Given the description of an element on the screen output the (x, y) to click on. 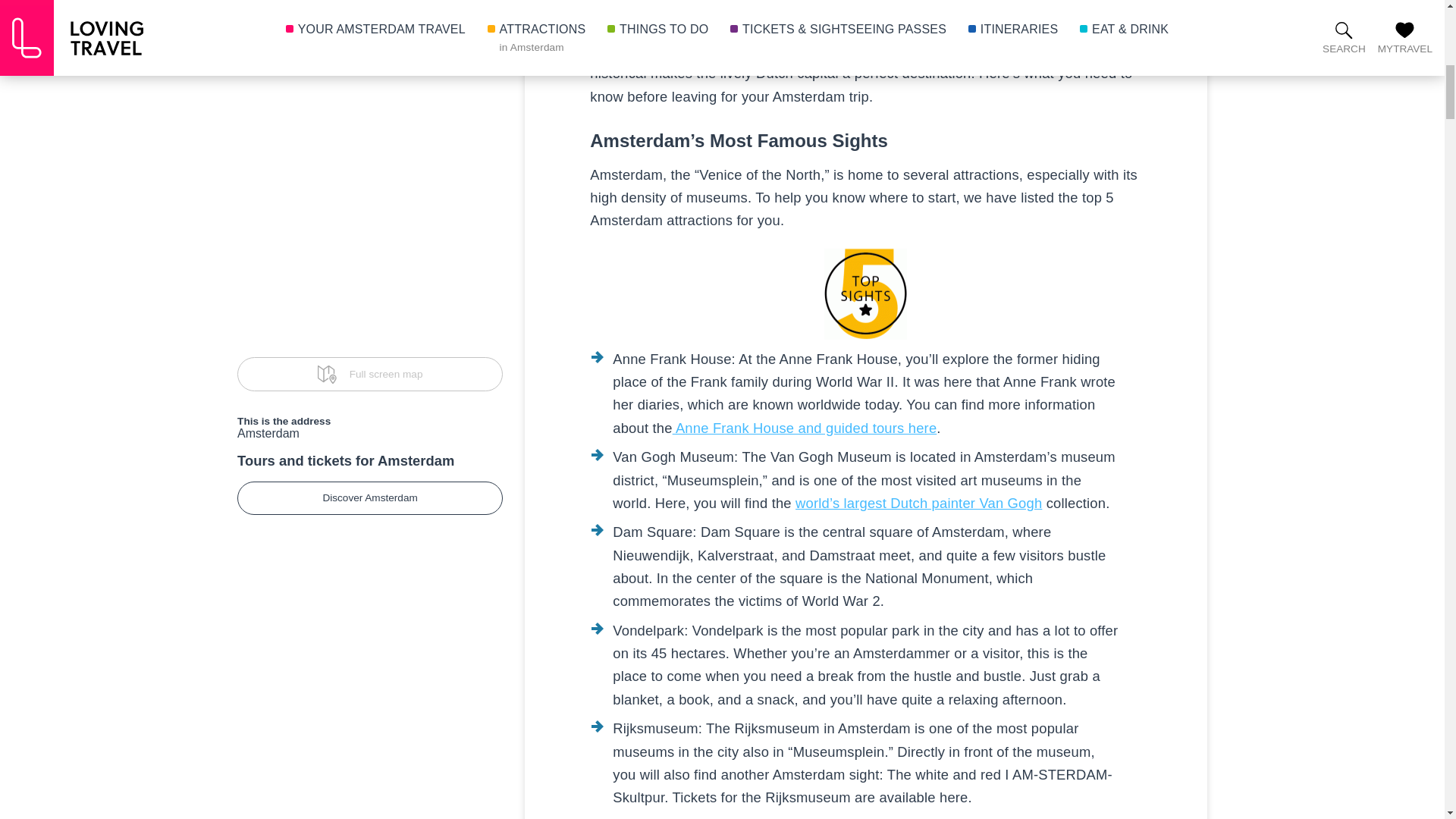
TOP-5-Sights-e1578996829386 (865, 293)
Van Gogh Museum (918, 503)
Anne Frank House (804, 427)
